Given the description of an element on the screen output the (x, y) to click on. 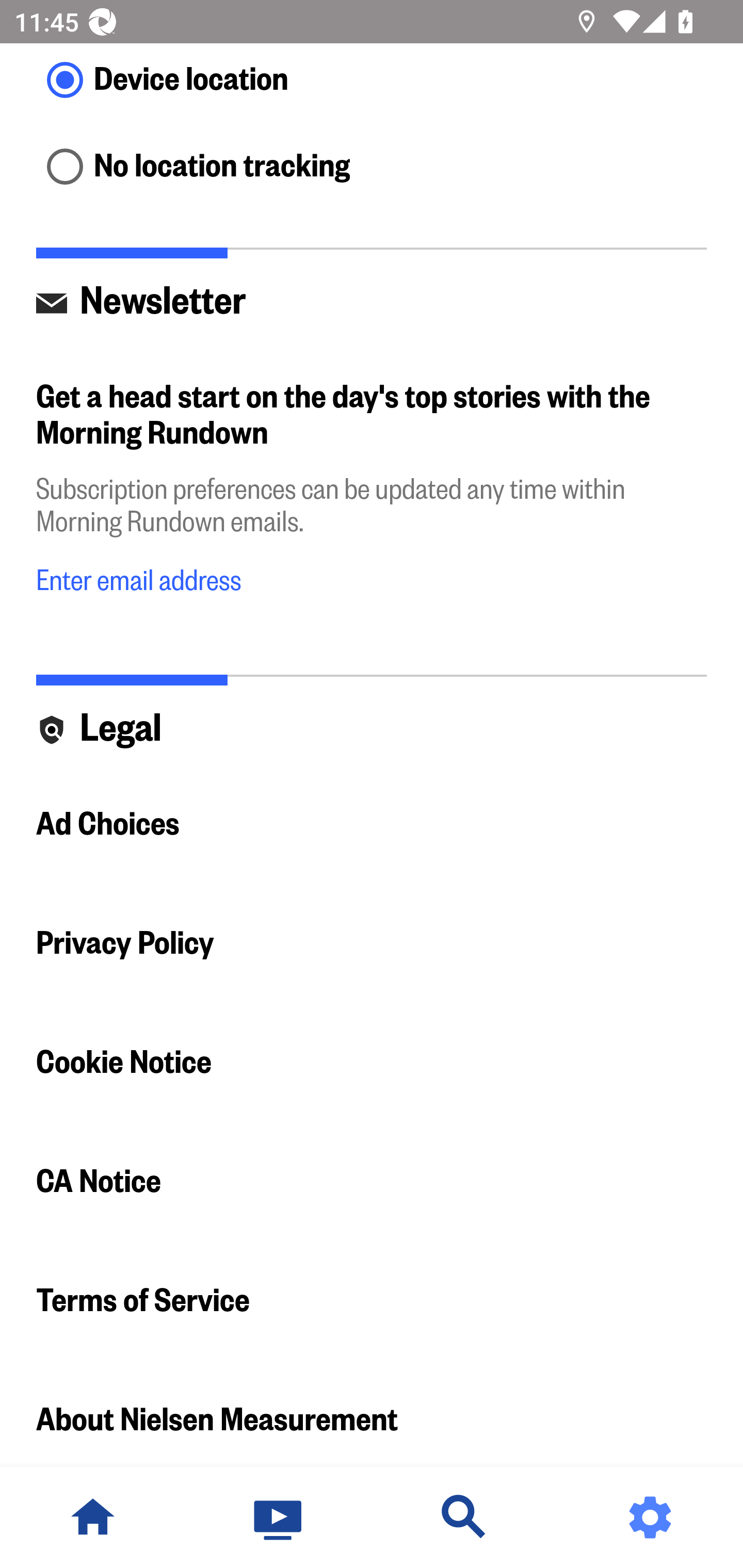
Device location (371, 81)
No location tracking (371, 168)
Ad Choices (371, 824)
Privacy Policy (371, 943)
Cookie Notice (371, 1062)
CA Notice (371, 1181)
Terms of Service (371, 1301)
About Nielsen Measurement (371, 1414)
NBC News Home (92, 1517)
Watch (278, 1517)
Discover (464, 1517)
